Given the description of an element on the screen output the (x, y) to click on. 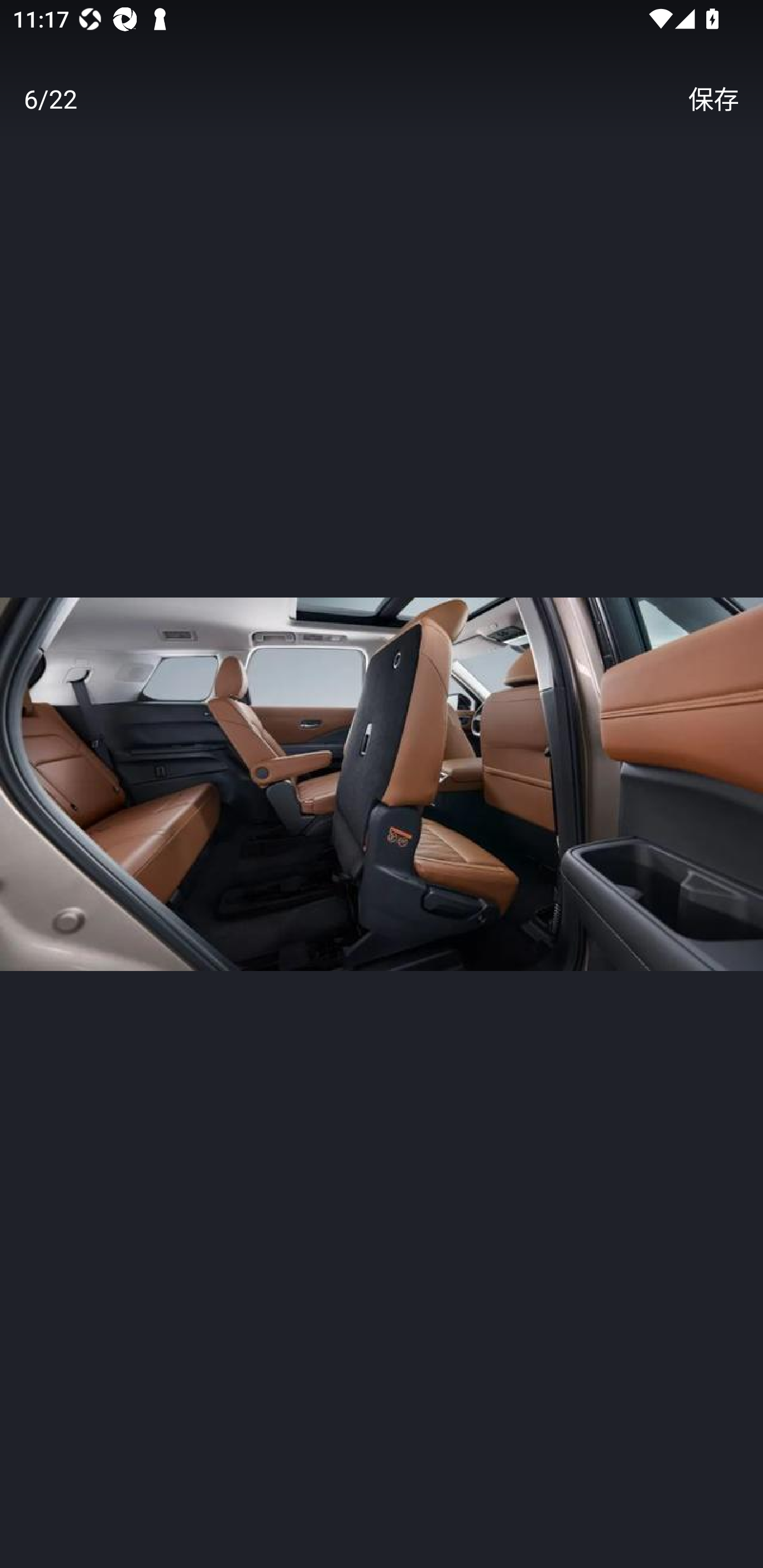
保存 (713, 98)
